Given the description of an element on the screen output the (x, y) to click on. 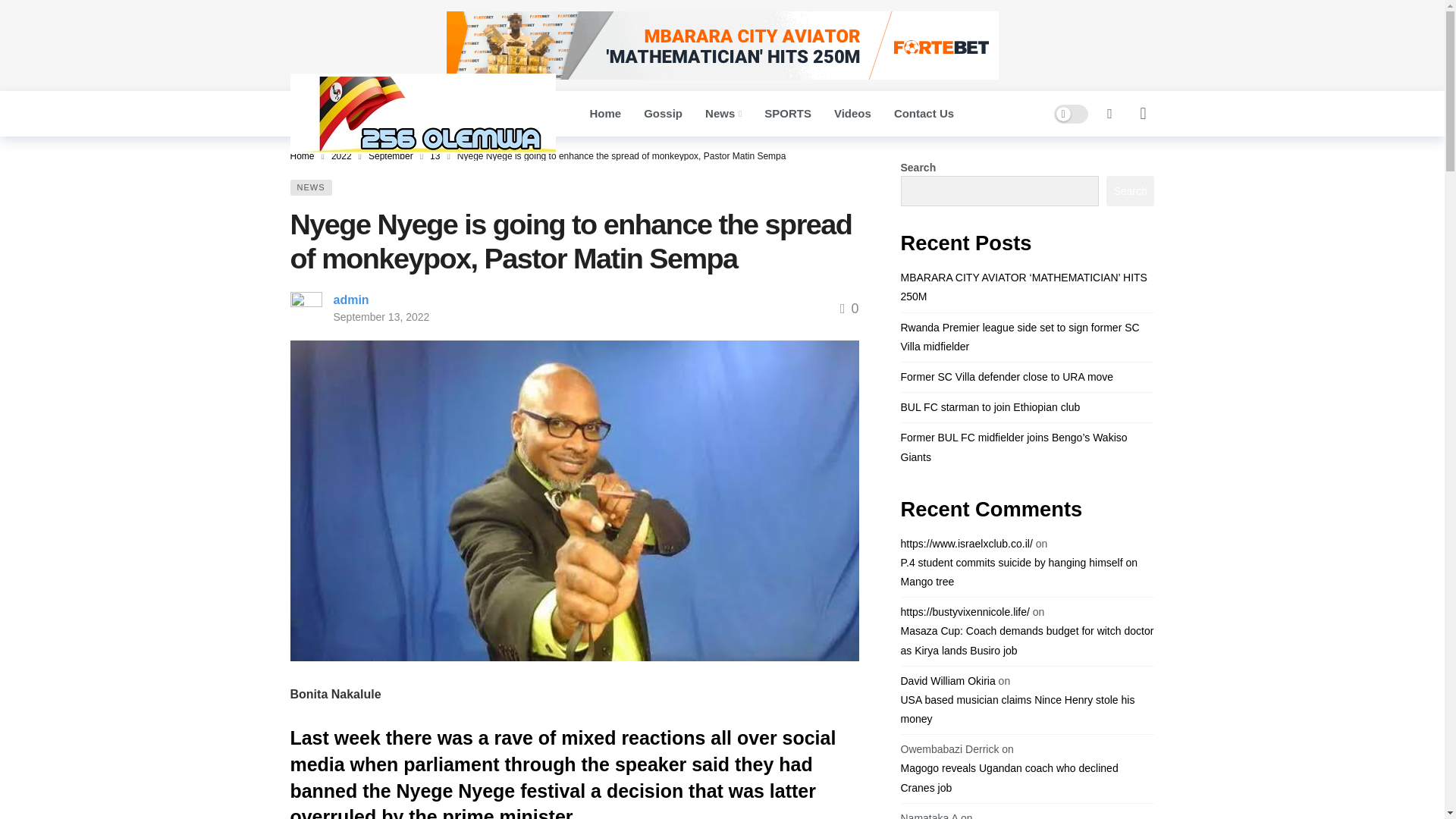
September (390, 155)
admin (351, 299)
Videos (852, 113)
2022 (341, 155)
Gossip (662, 113)
13 (434, 155)
Home (301, 155)
NEWS (310, 187)
September 13, 2022 (381, 316)
SPORTS (787, 113)
Contact Us (923, 113)
0 (849, 308)
Home (604, 113)
News (723, 113)
